Given the description of an element on the screen output the (x, y) to click on. 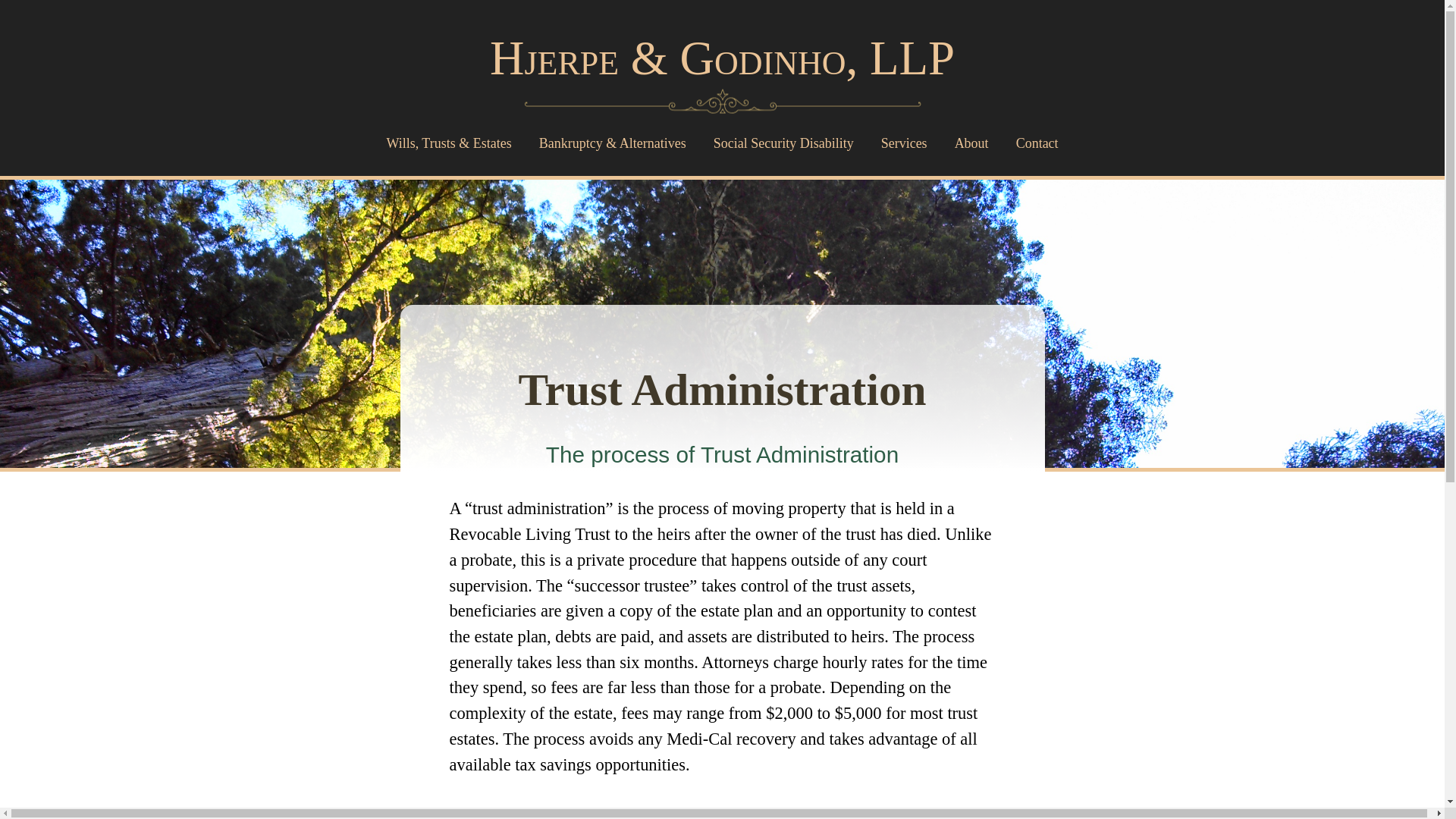
Contact (1037, 143)
Social Security Disability (783, 143)
Skip to main content (721, 1)
About (971, 143)
Services (903, 143)
